Given the description of an element on the screen output the (x, y) to click on. 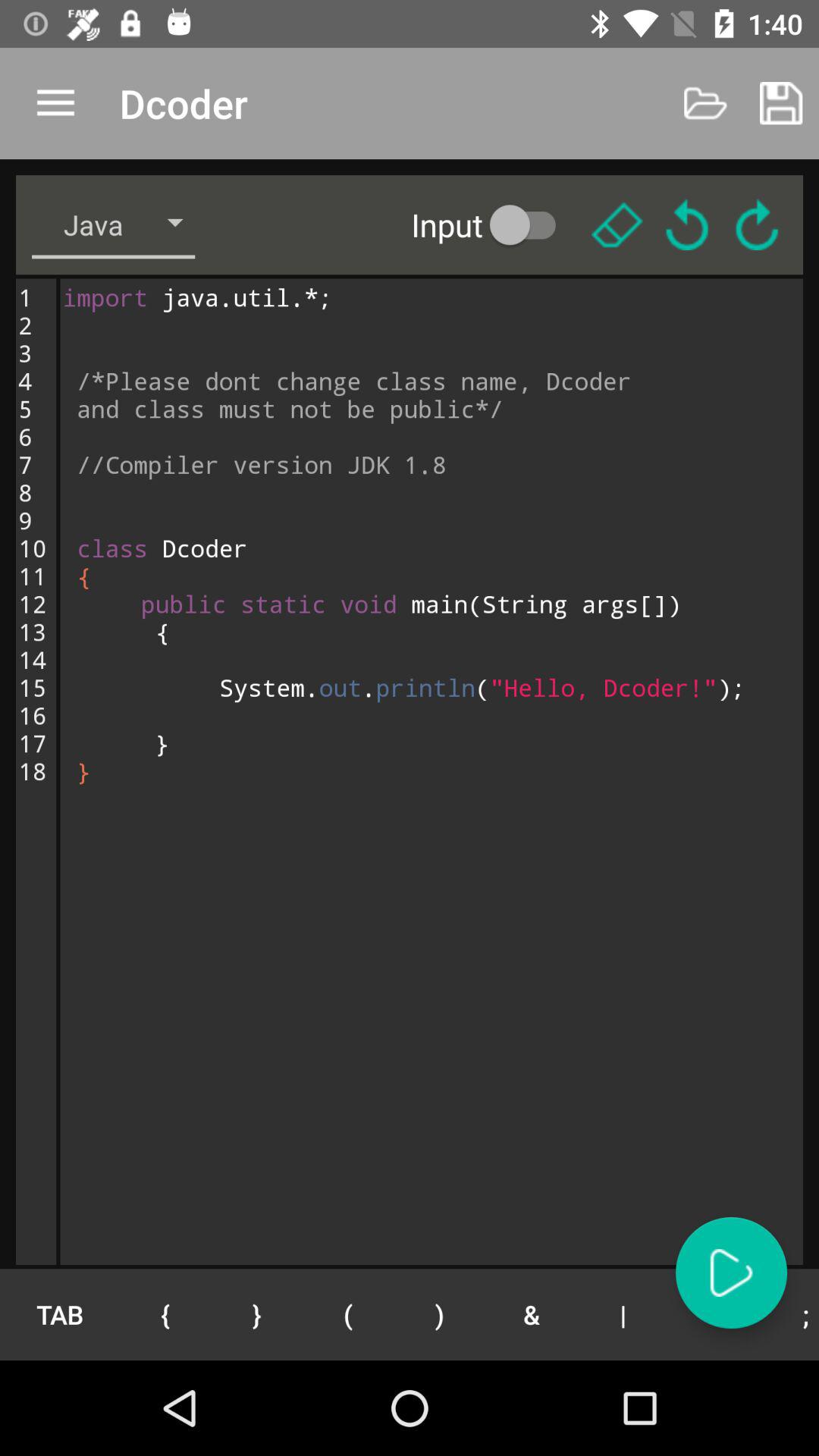
audio play button (731, 1272)
